Given the description of an element on the screen output the (x, y) to click on. 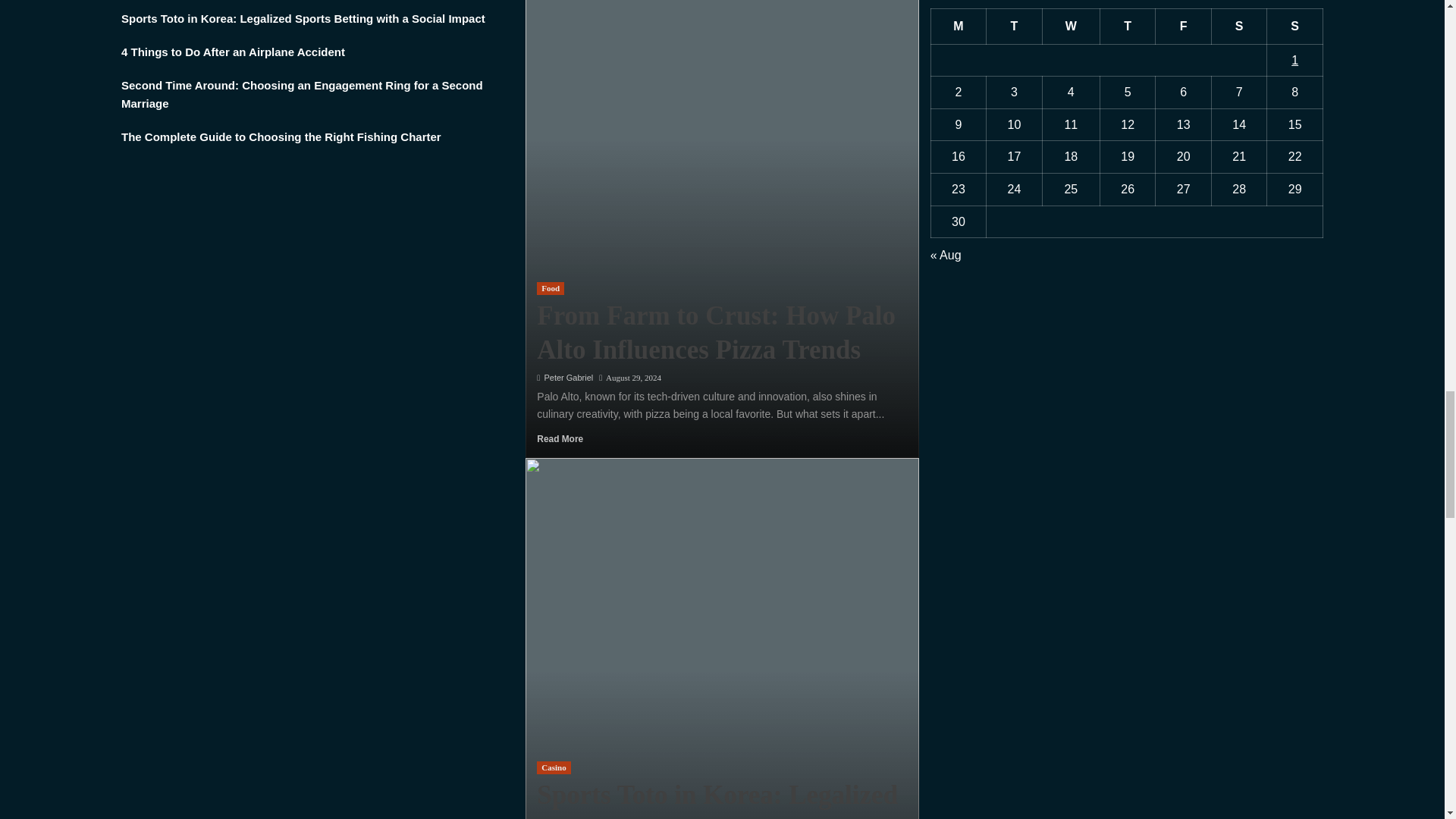
Monday (958, 26)
Friday (1183, 26)
Sunday (1294, 26)
Tuesday (1014, 26)
Thursday (1127, 26)
Saturday (1238, 26)
Wednesday (1070, 26)
